Given the description of an element on the screen output the (x, y) to click on. 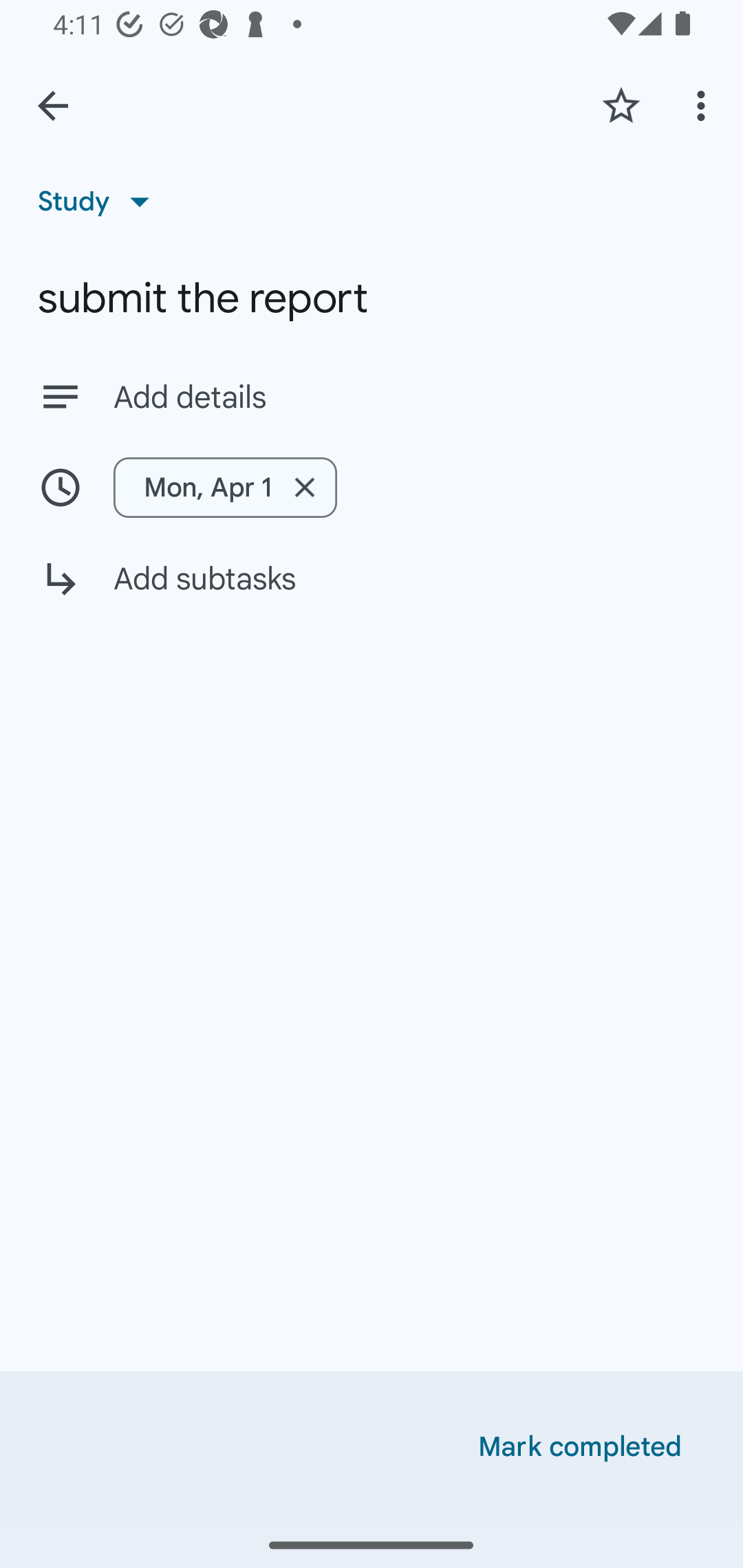
Back (53, 105)
Add star (620, 105)
More options (704, 105)
Study List, Study selected, 1 of 23 (99, 201)
submit the report (371, 298)
Add details (371, 396)
Add details (409, 397)
Mon, Apr 1 Remove date/time (371, 487)
Mon, Apr 1 Remove date/time (225, 487)
Add subtasks (371, 593)
Mark completed (580, 1446)
